Given the description of an element on the screen output the (x, y) to click on. 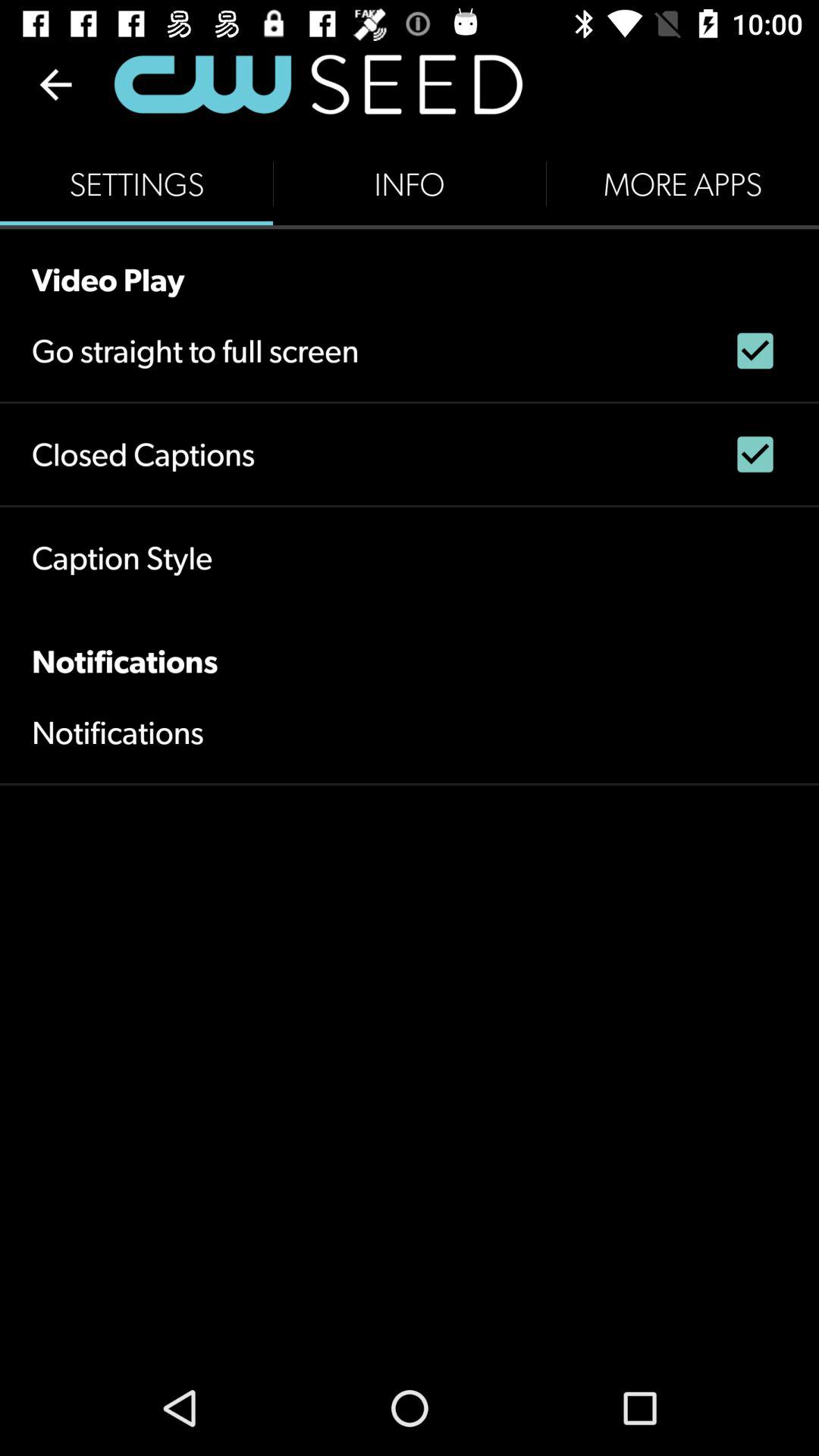
scroll to the info (409, 184)
